Given the description of an element on the screen output the (x, y) to click on. 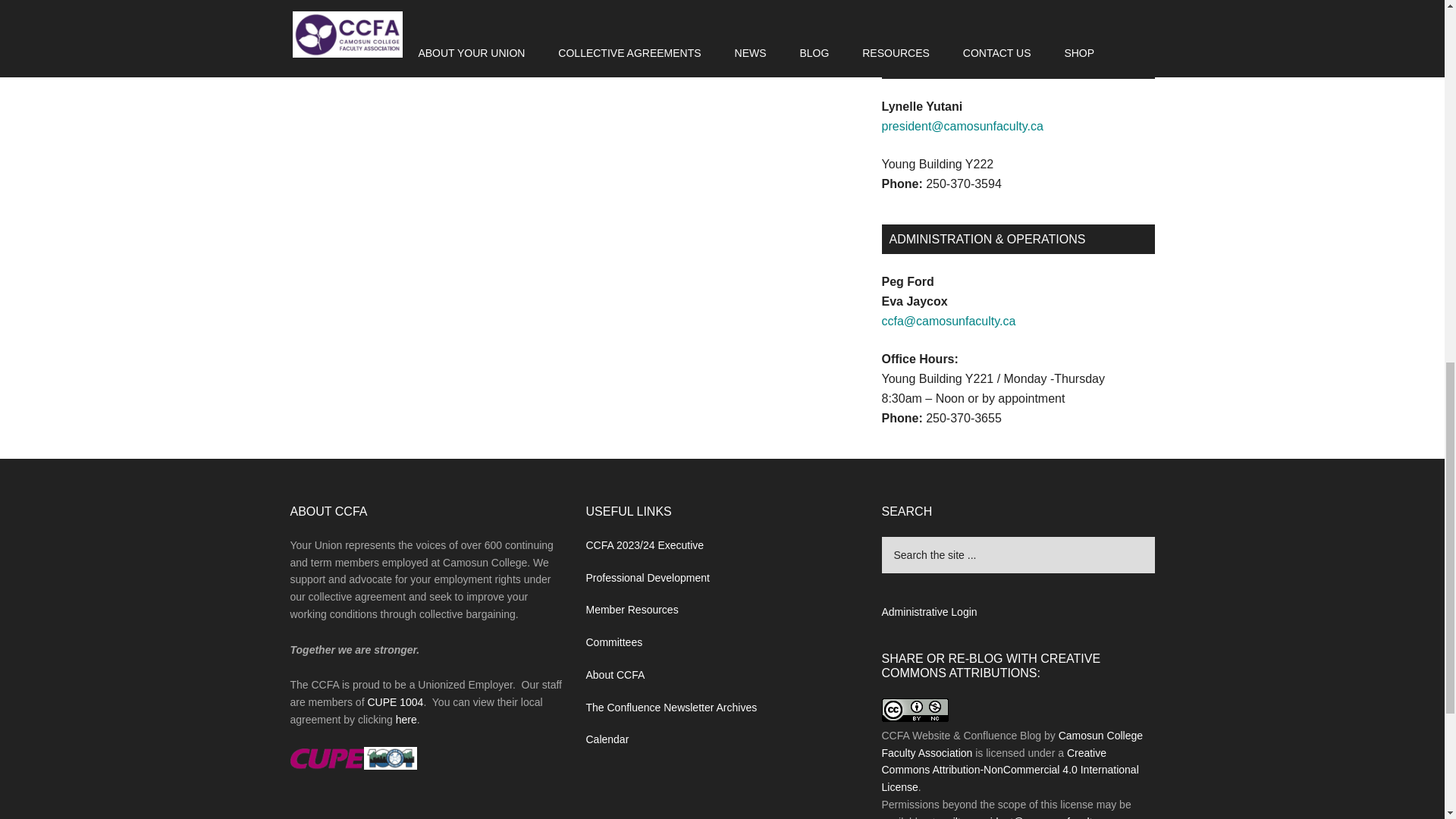
Subscribe (1017, 2)
